Given the description of an element on the screen output the (x, y) to click on. 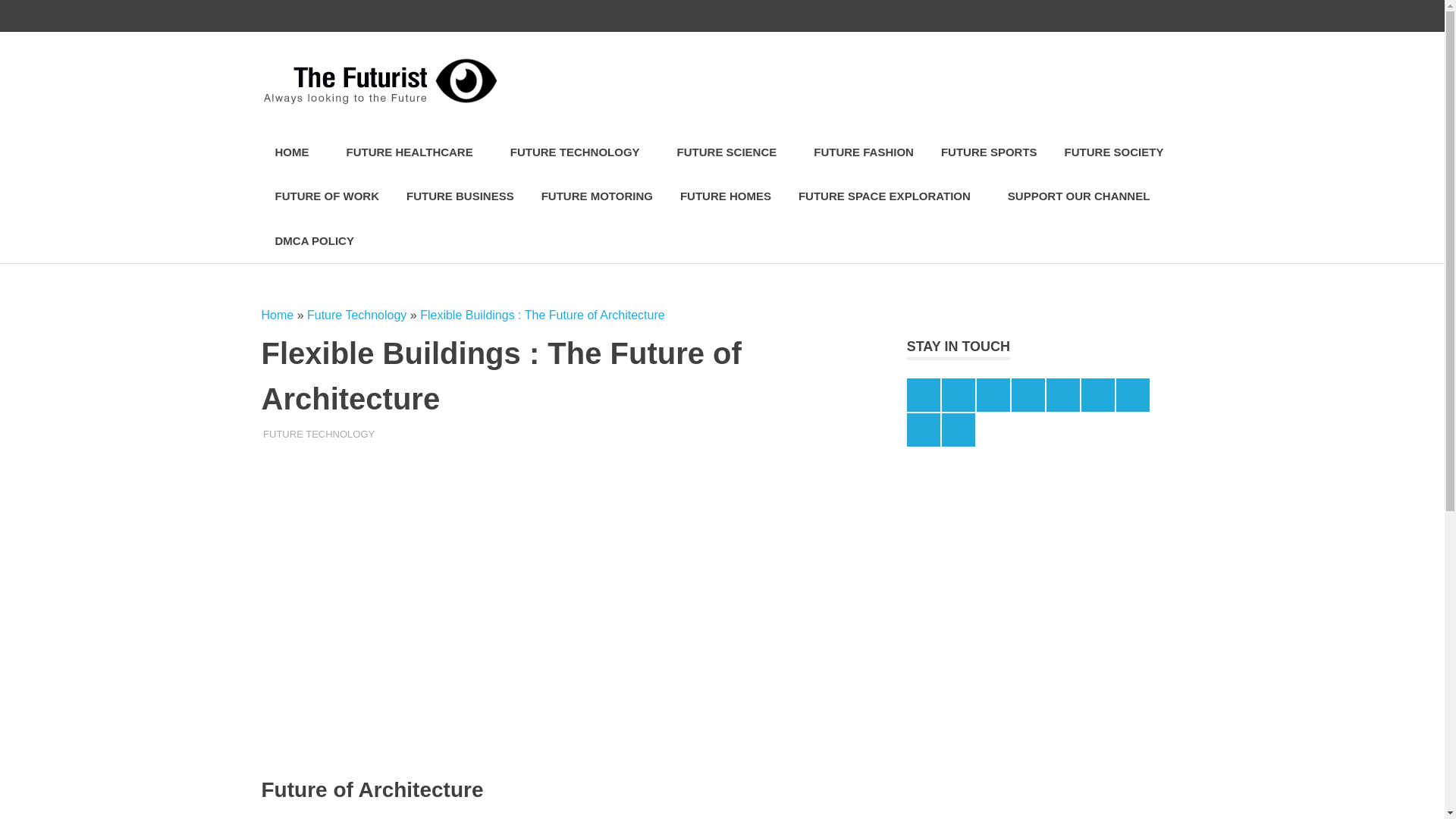
Future Technology (356, 314)
The Futurist Channel (1071, 15)
FUTURE SOCIETY (1114, 152)
Pinterest (1007, 15)
FUTURE OF WORK (325, 196)
Gettr (1166, 15)
Flipboard (1039, 15)
View all posts by Geraldine (291, 433)
FUTURE HEALTHCARE (413, 152)
9:59 am (297, 433)
rss (1103, 15)
Flexible Buildings : The Future of Architecture (542, 314)
facebook (912, 15)
FUTURE TECHNOLOGY (579, 152)
